Given the description of an element on the screen output the (x, y) to click on. 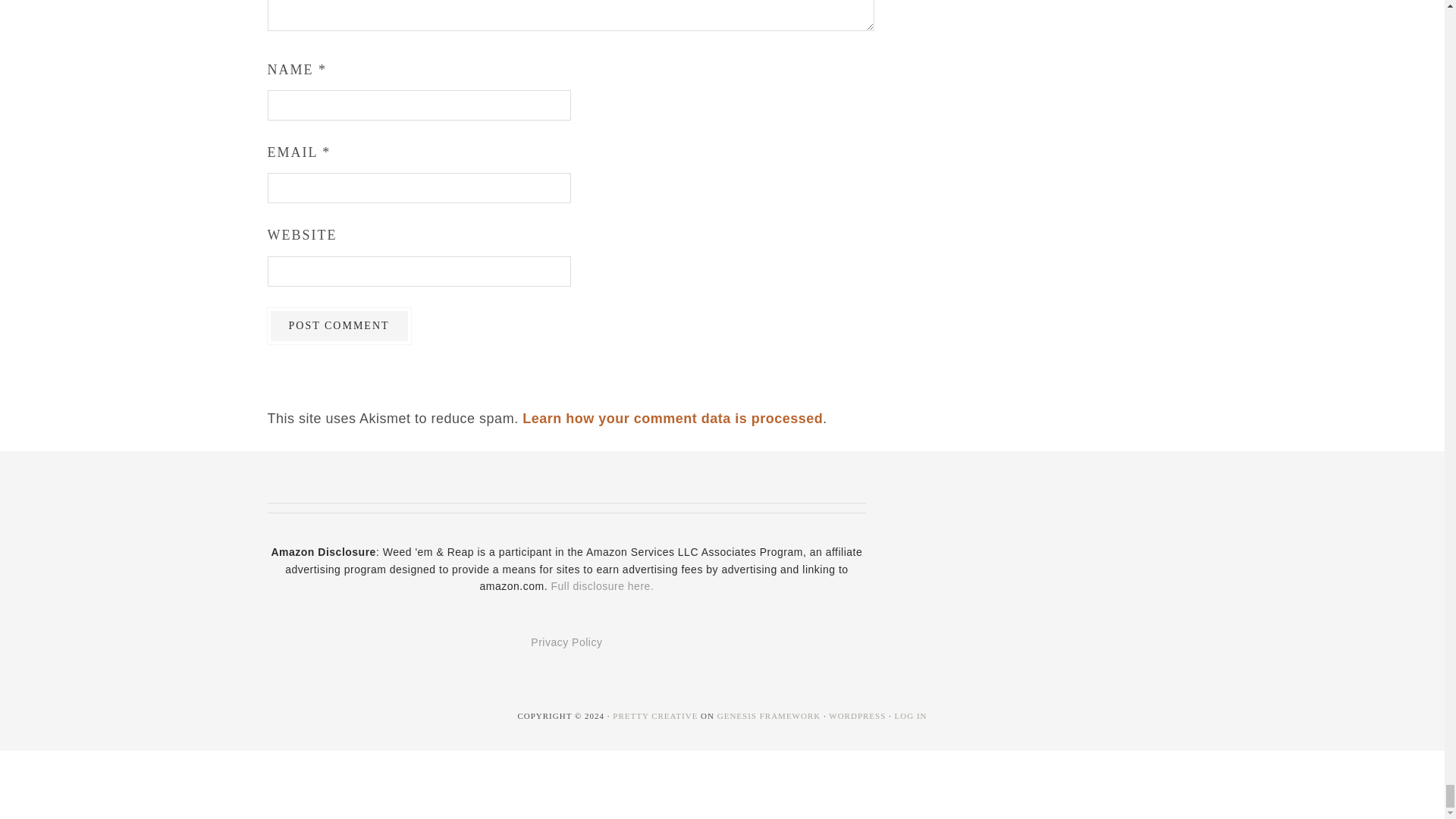
Click to Verify (566, 507)
Privacy Policy (566, 642)
Post Comment (338, 325)
